Given the description of an element on the screen output the (x, y) to click on. 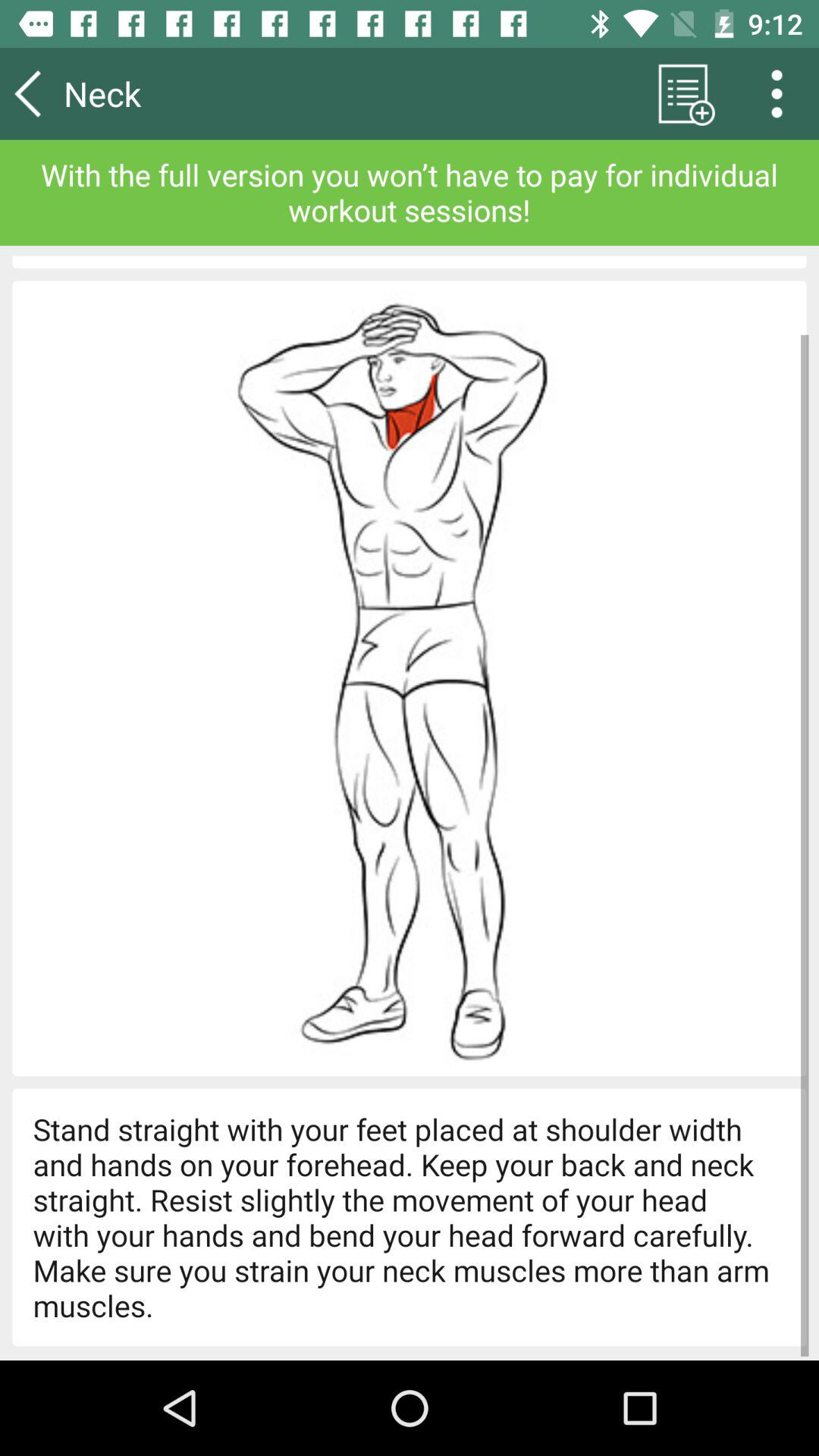
click the item above the with the full app (782, 93)
